Given the description of an element on the screen output the (x, y) to click on. 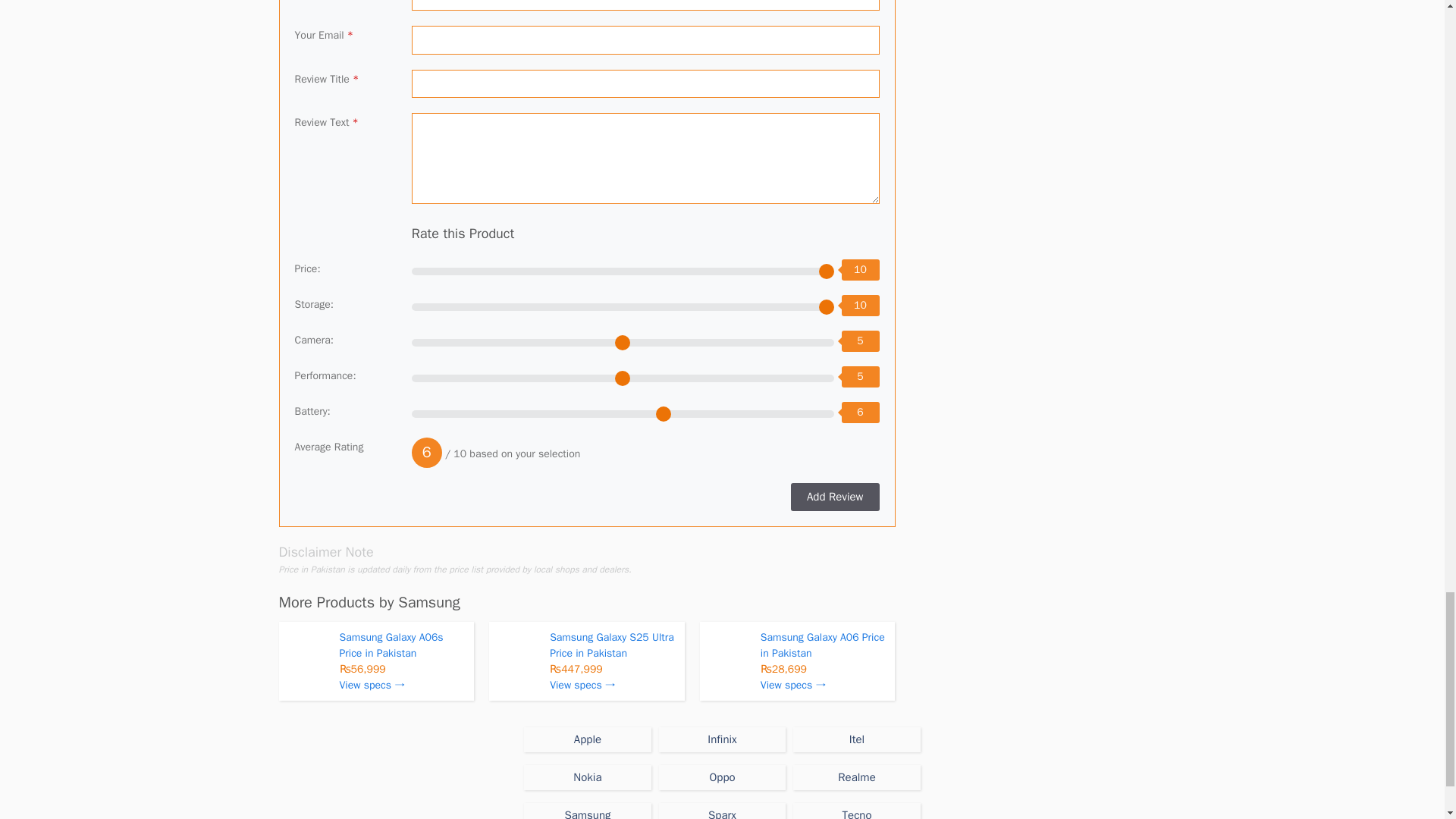
10 (623, 271)
Samsung Galaxy S25 Ultra Price in Pakistan (612, 645)
Add Review (834, 497)
10 (623, 307)
Samsung (428, 601)
Samsung Galaxy A06 Price in Pakistan (822, 645)
Add Review (834, 497)
5 (623, 378)
Samsung Galaxy A06s Price in Pakistan (391, 645)
5 (623, 342)
6 (623, 413)
